Given the description of an element on the screen output the (x, y) to click on. 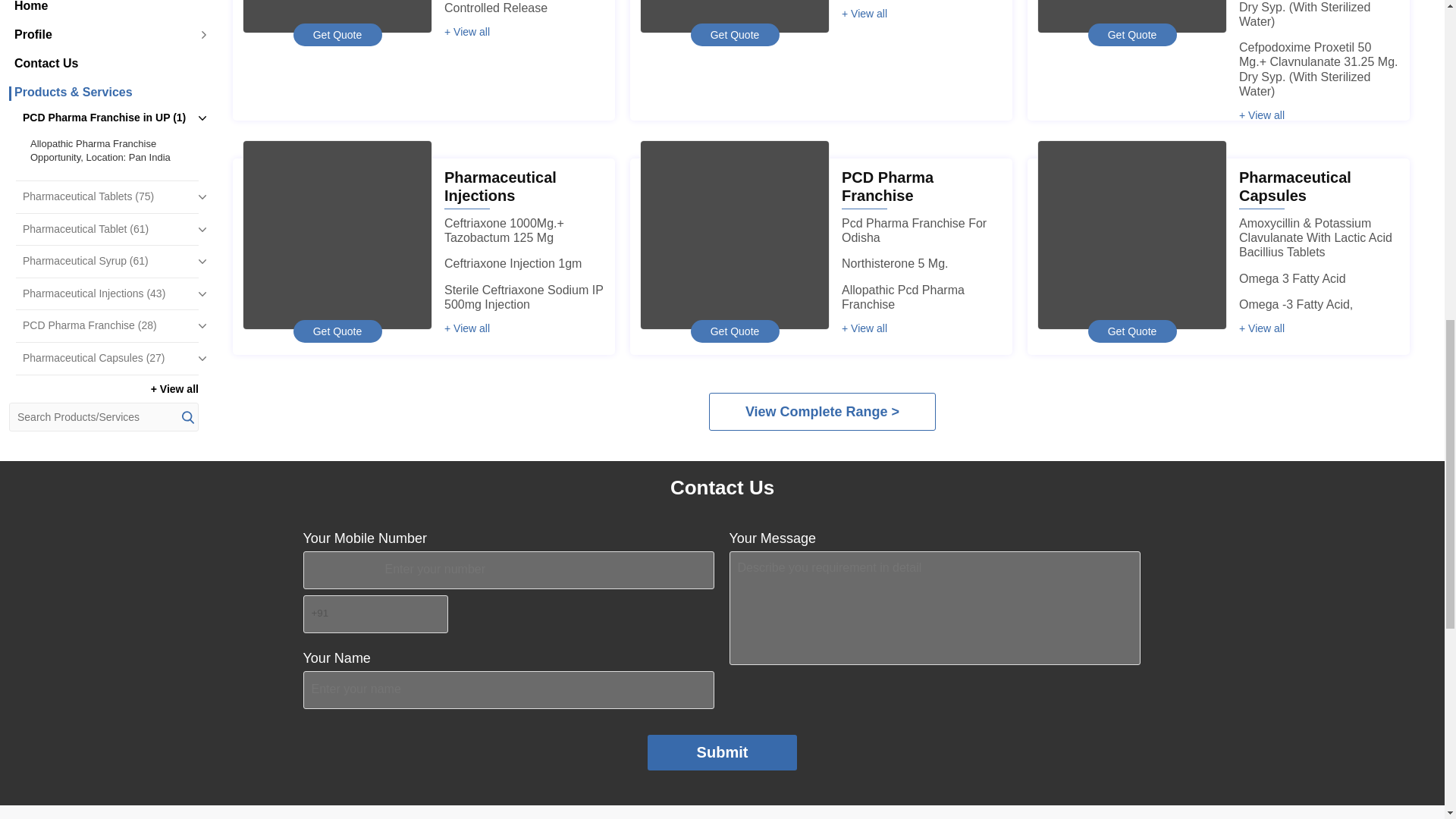
Submit (722, 752)
